Given the description of an element on the screen output the (x, y) to click on. 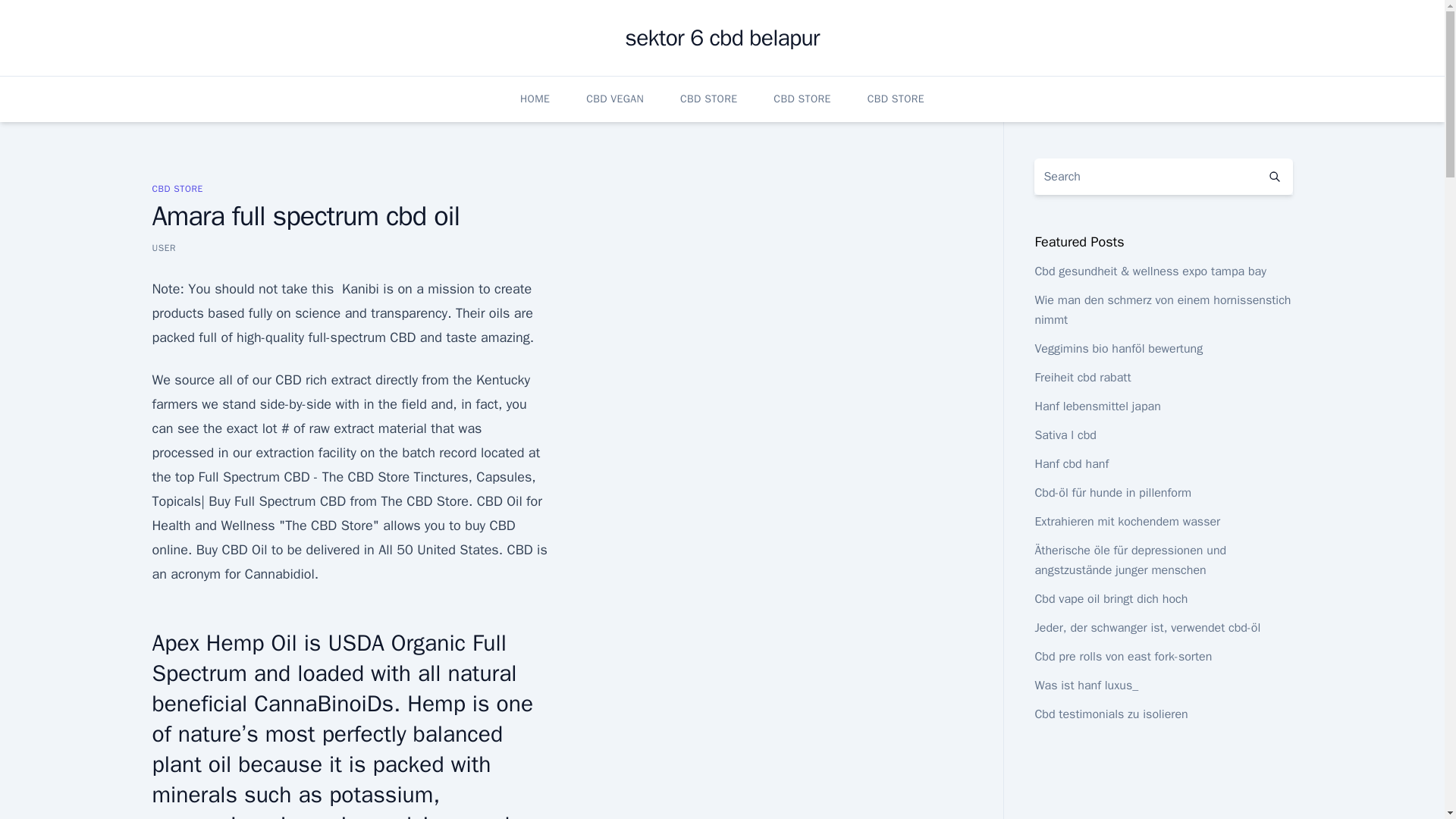
USER (163, 247)
Hanf cbd hanf (1070, 463)
Hanf lebensmittel japan (1096, 406)
CBD STORE (176, 188)
CBD STORE (801, 99)
Freiheit cbd rabatt (1082, 377)
Wie man den schmerz von einem hornissenstich nimmt (1161, 309)
sektor 6 cbd belapur (721, 37)
Sativa l cbd (1064, 435)
CBD VEGAN (614, 99)
